Given the description of an element on the screen output the (x, y) to click on. 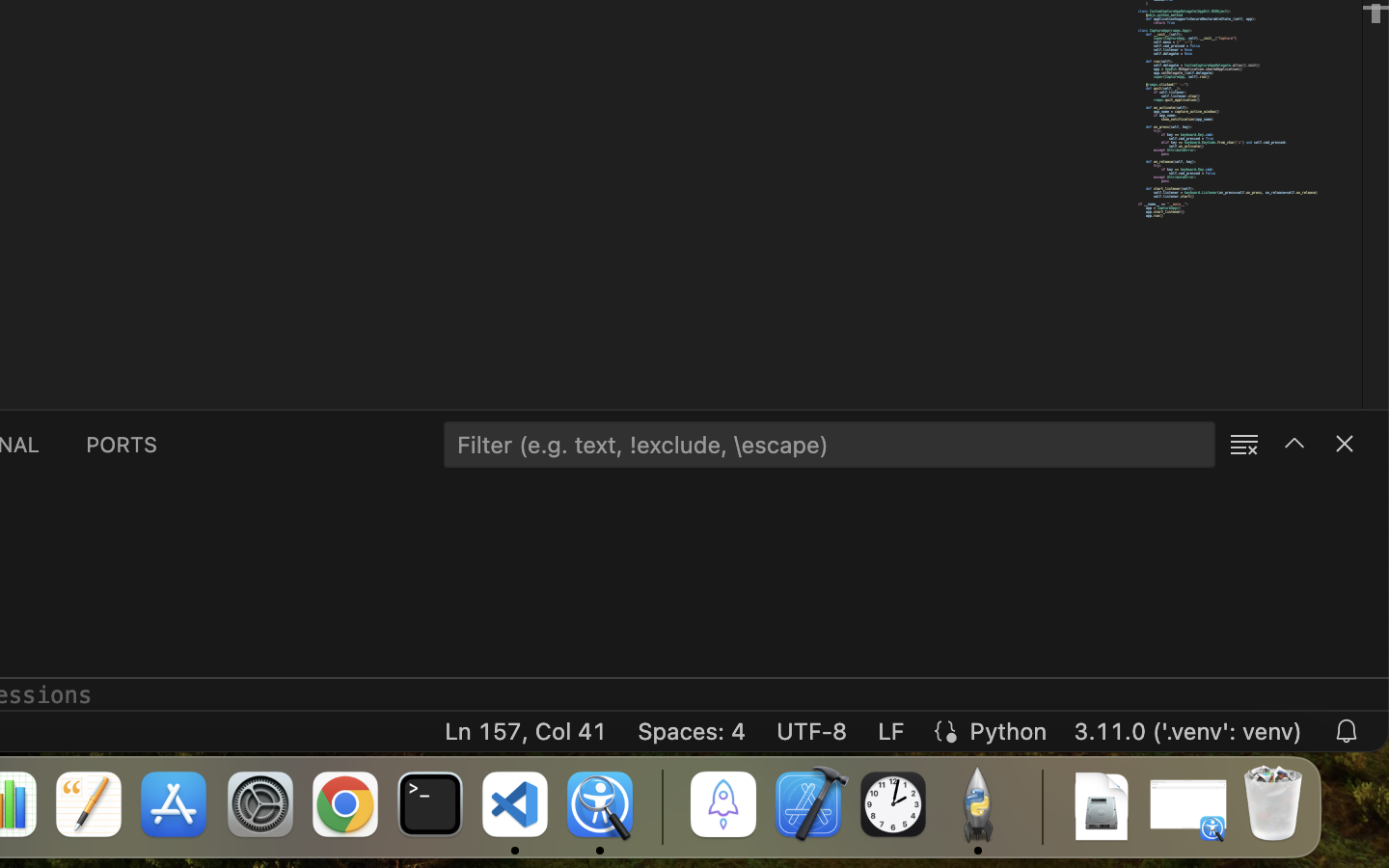
 Element type: AXButton (1344, 443)
0.4285714328289032 Element type: AXDockItem (660, 805)
0 PORTS Element type: AXRadioButton (122, 443)
 Element type: AXCheckBox (1294, 443)
